Given the description of an element on the screen output the (x, y) to click on. 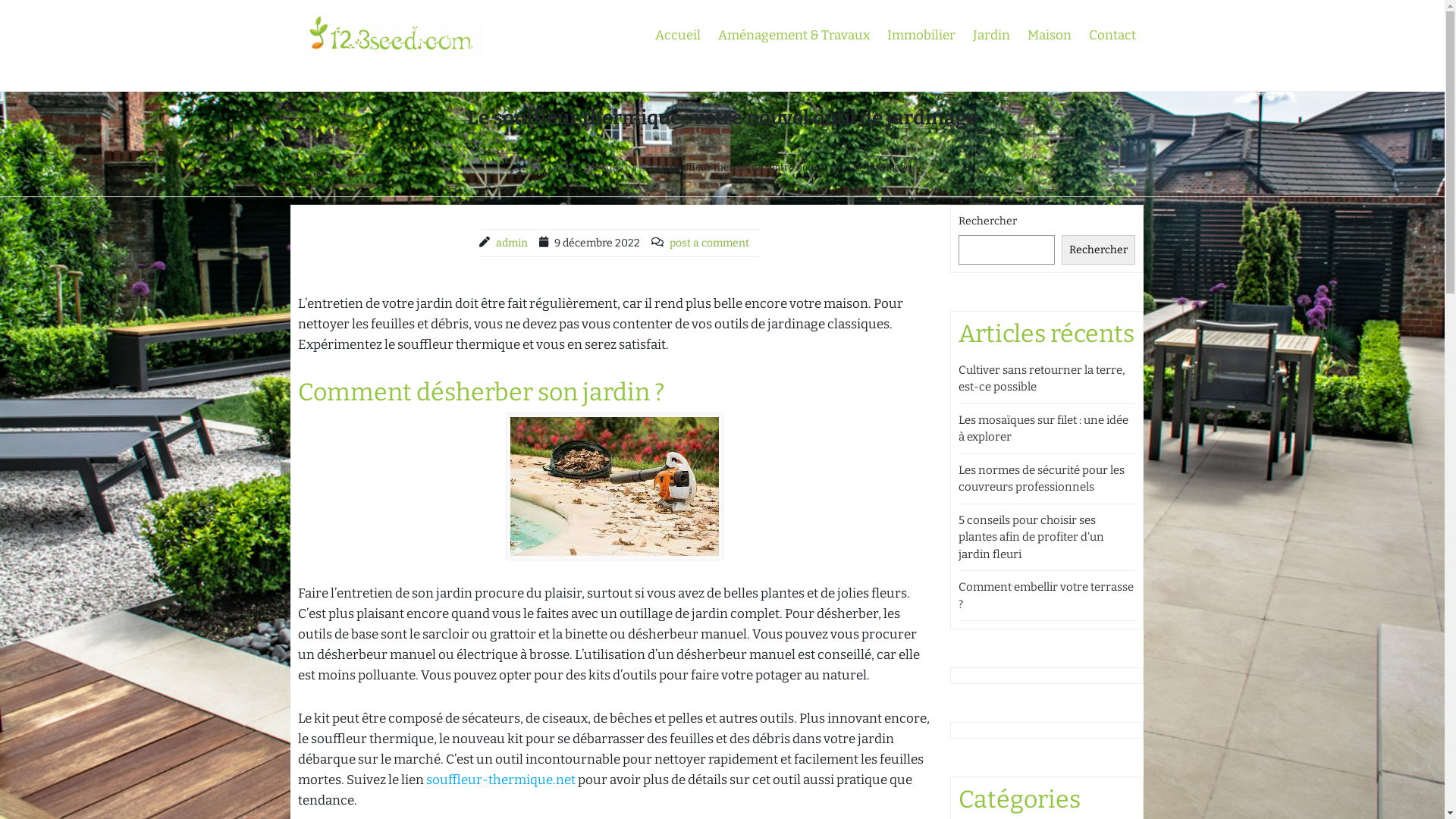
9 Element type: text (643, 166)
Rechercher Element type: text (1098, 249)
123seed.com Element type: text (380, 78)
Maison Element type: text (1048, 34)
2022 Element type: text (563, 166)
souffleur-thermique.net Element type: text (500, 779)
admin Element type: text (511, 242)
Contact Element type: text (1112, 34)
Accueil Element type: text (677, 34)
Cultiver sans retourner la terre, est-ce possible Element type: text (1041, 378)
post a comment Element type: text (709, 242)
Comment embellir votre terrasse ? Element type: text (1045, 595)
Immobilier Element type: text (921, 34)
Jardin Element type: text (990, 34)
